Given the description of an element on the screen output the (x, y) to click on. 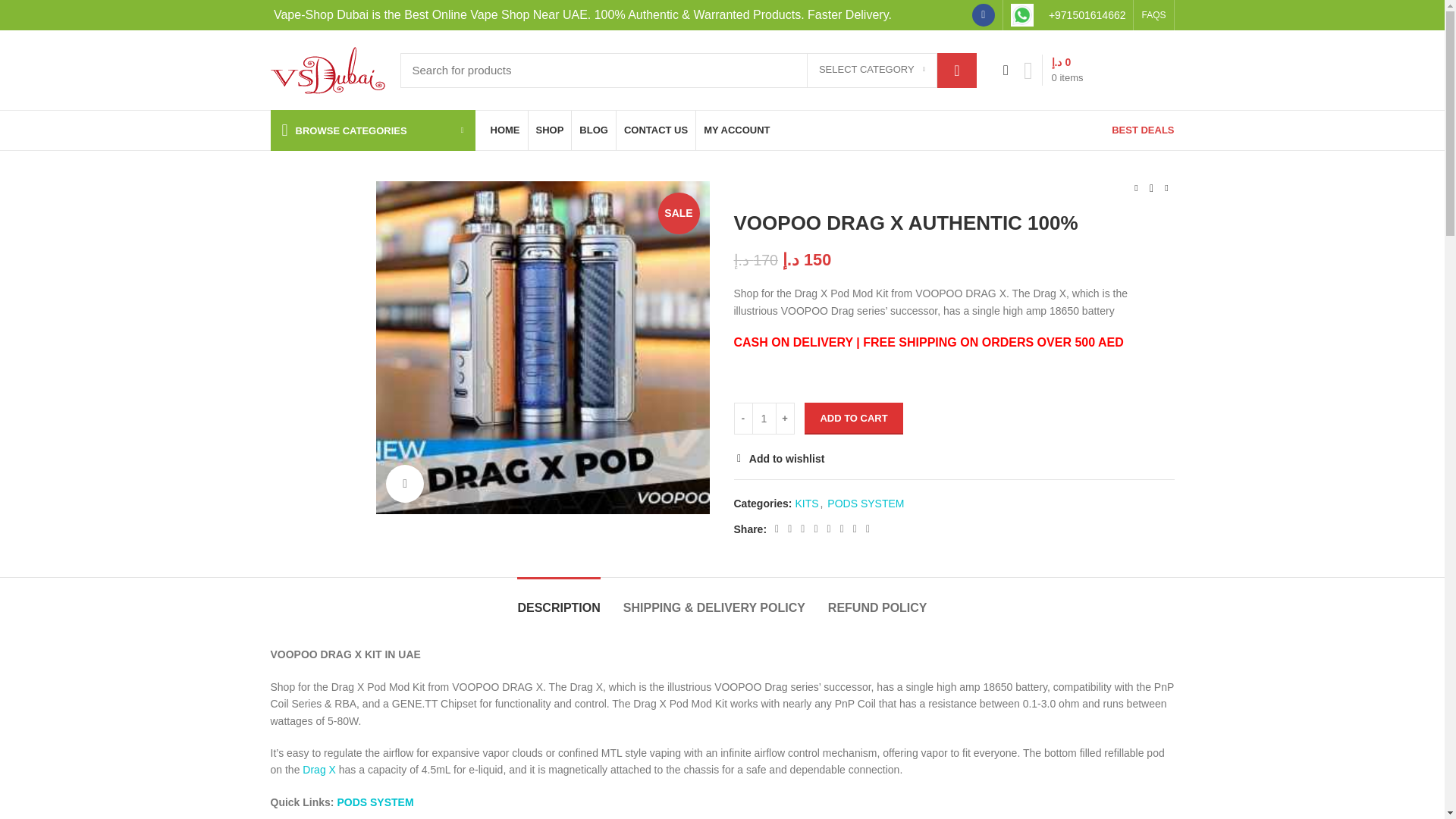
Shopping cart (1053, 69)
SELECT CATEGORY (871, 69)
VOOPOO DRAG X KIT IN UAE (542, 347)
SELECT CATEGORY (871, 69)
icons8-whatsapp (1021, 15)
FAQS (1153, 15)
Search for products (688, 70)
